Given the description of an element on the screen output the (x, y) to click on. 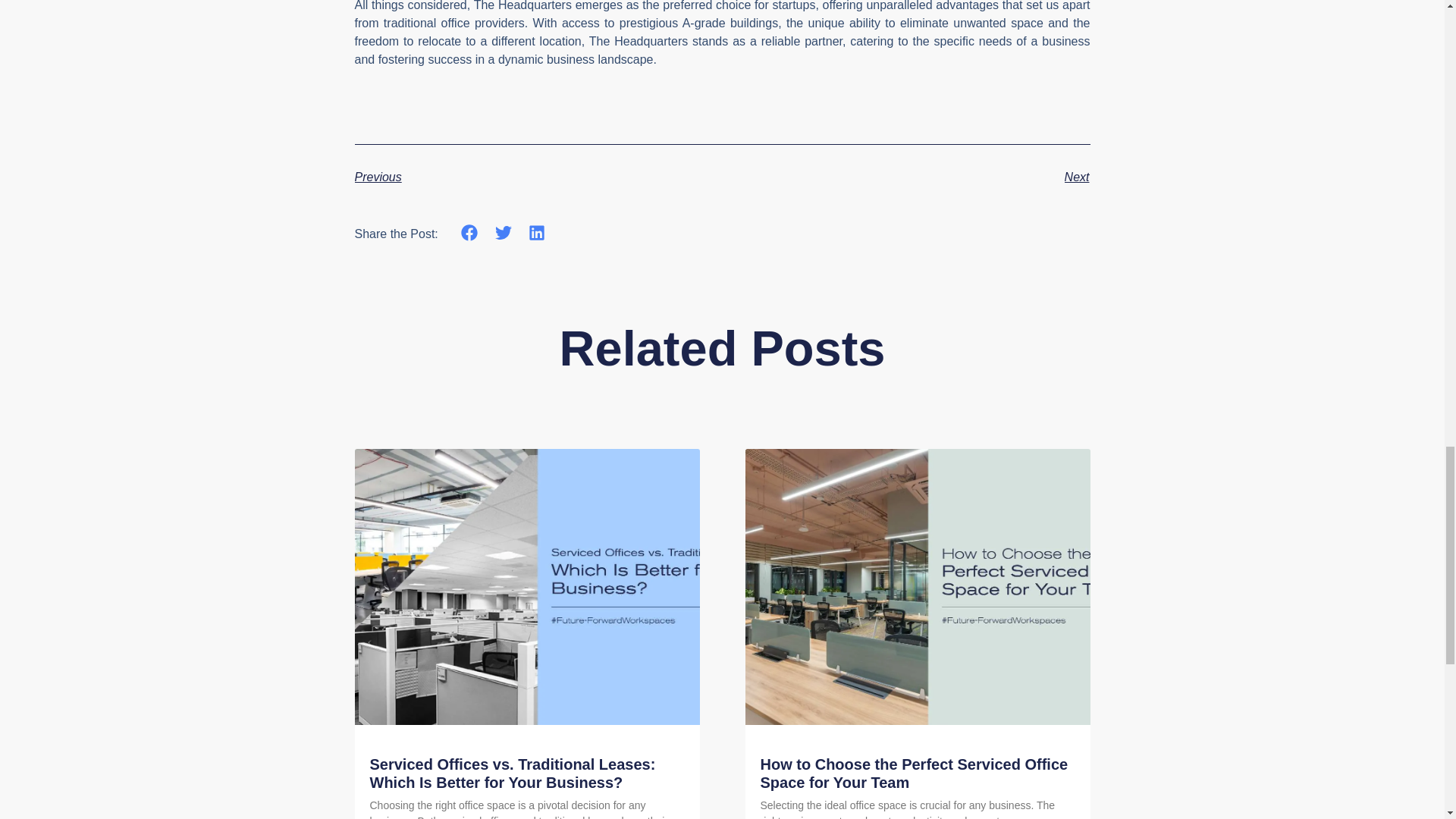
Previous (538, 176)
Next (905, 176)
